Given the description of an element on the screen output the (x, y) to click on. 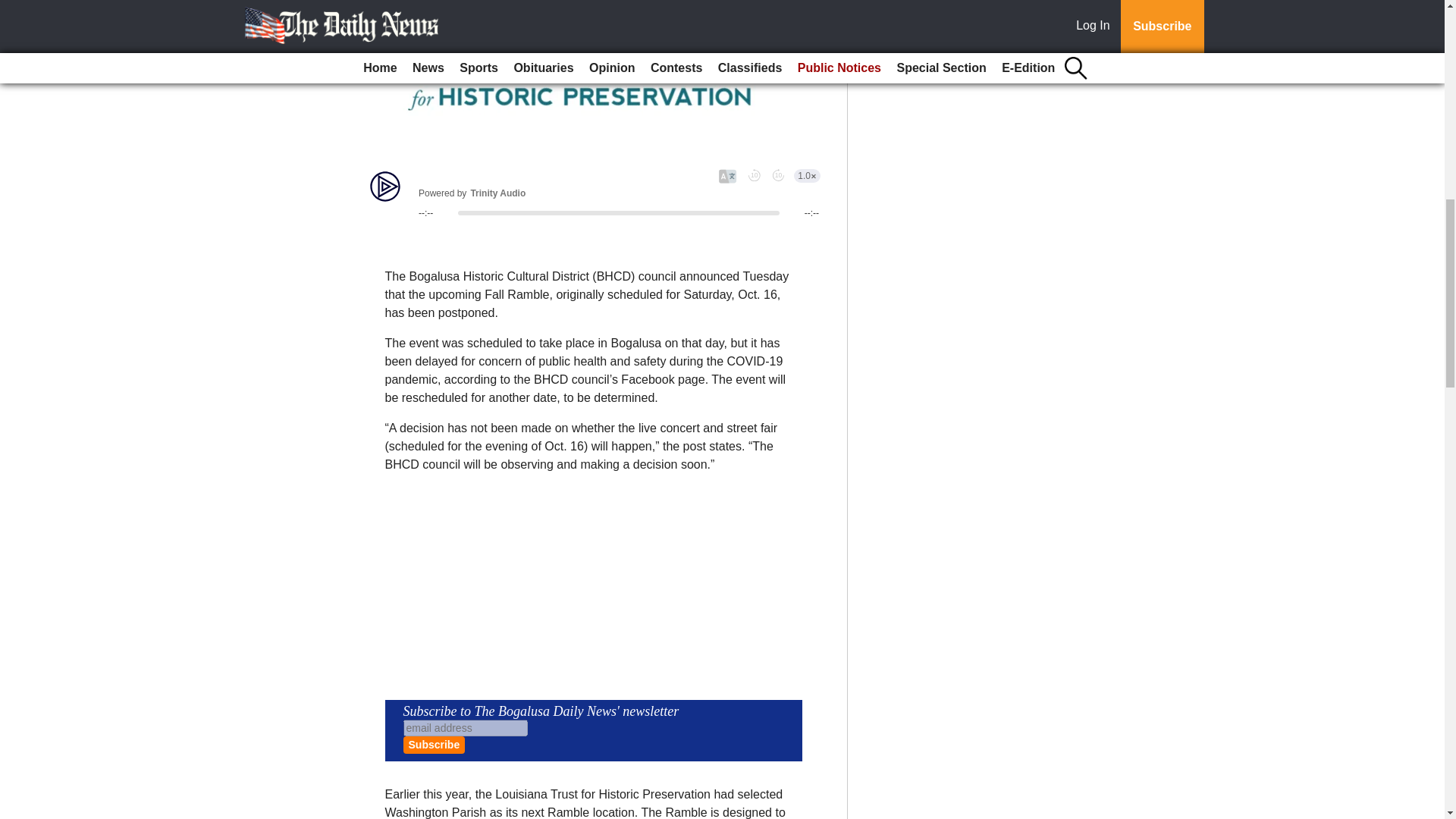
Subscribe (434, 744)
Trinity Audio Player (592, 193)
Subscribe (434, 744)
